Given the description of an element on the screen output the (x, y) to click on. 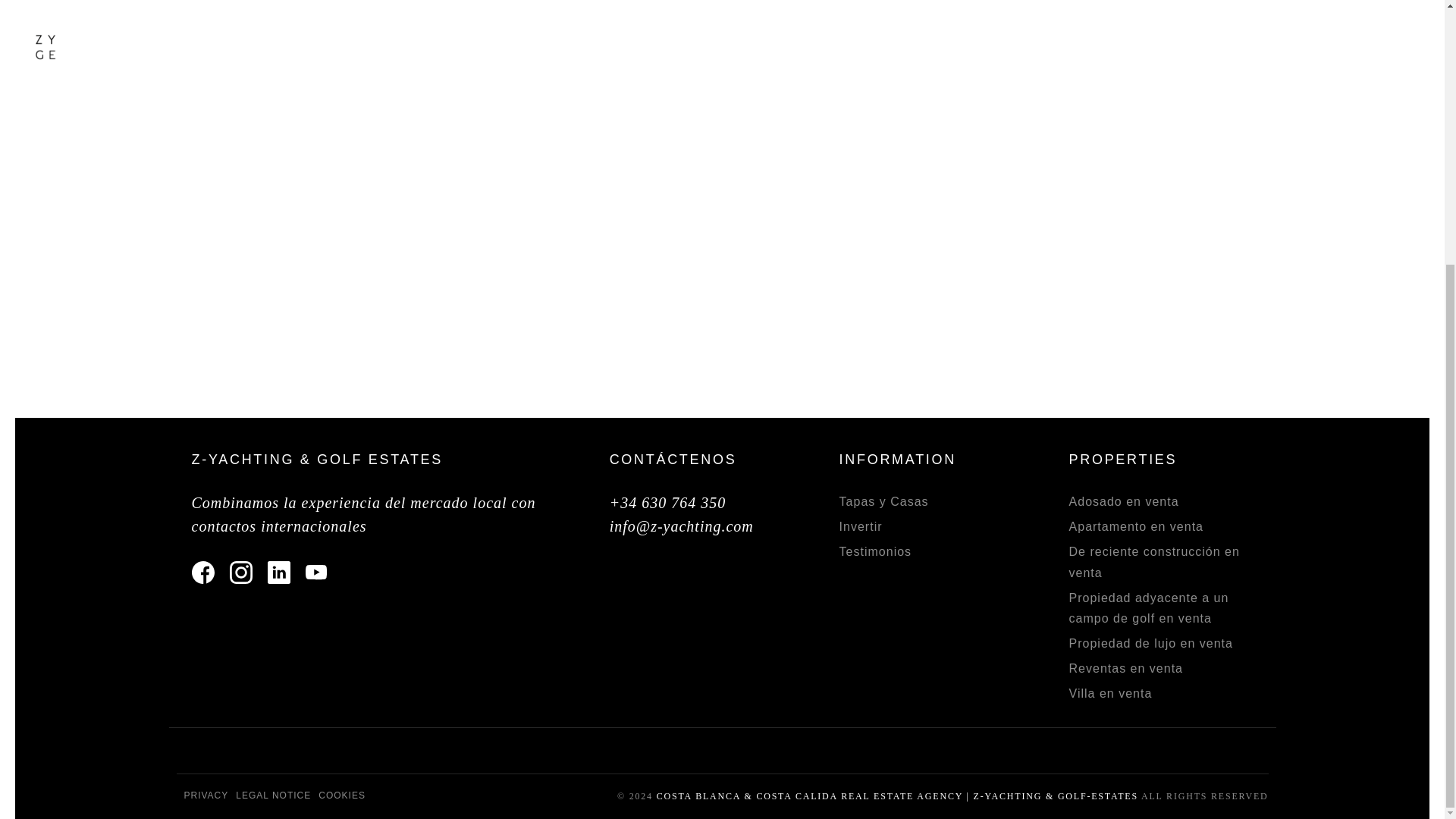
Propiedad adyacente a un campo de golf en venta (1148, 608)
Villa en venta (1110, 693)
Apartamento en venta (1136, 526)
Adosado en venta (1123, 501)
Propiedad de lujo en venta (1150, 643)
Reventas en venta (1125, 667)
